Given the description of an element on the screen output the (x, y) to click on. 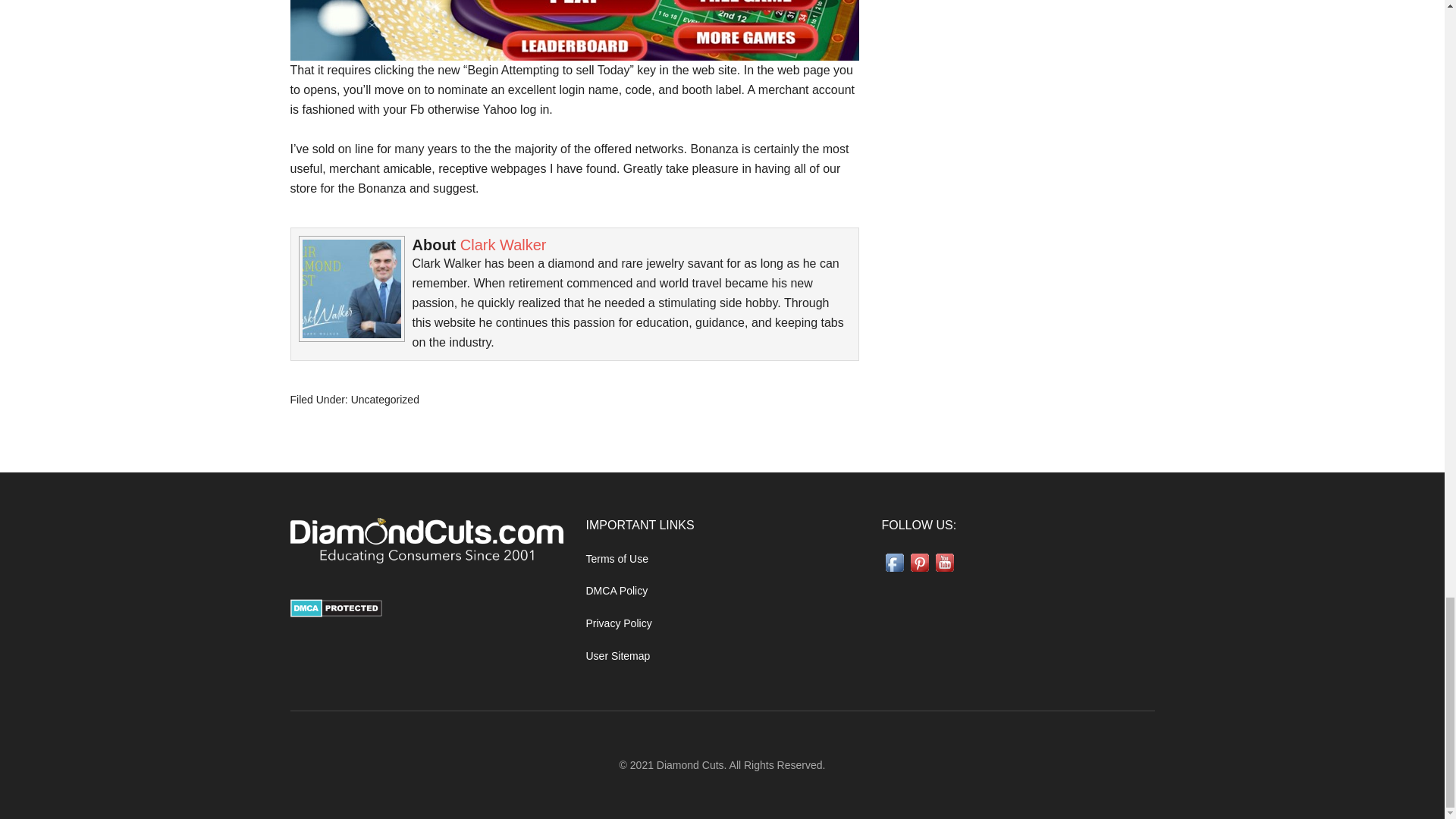
Uncategorized (384, 399)
Privacy Policy (617, 623)
Visit Us On Facebook (892, 571)
Terms of Use (616, 558)
DMCA Policy (616, 590)
Clark Walker (503, 244)
Visit Us On Youtube (943, 571)
Visit Us On Pinterest (919, 571)
DMCA.com Protection Status (335, 613)
